Given the description of an element on the screen output the (x, y) to click on. 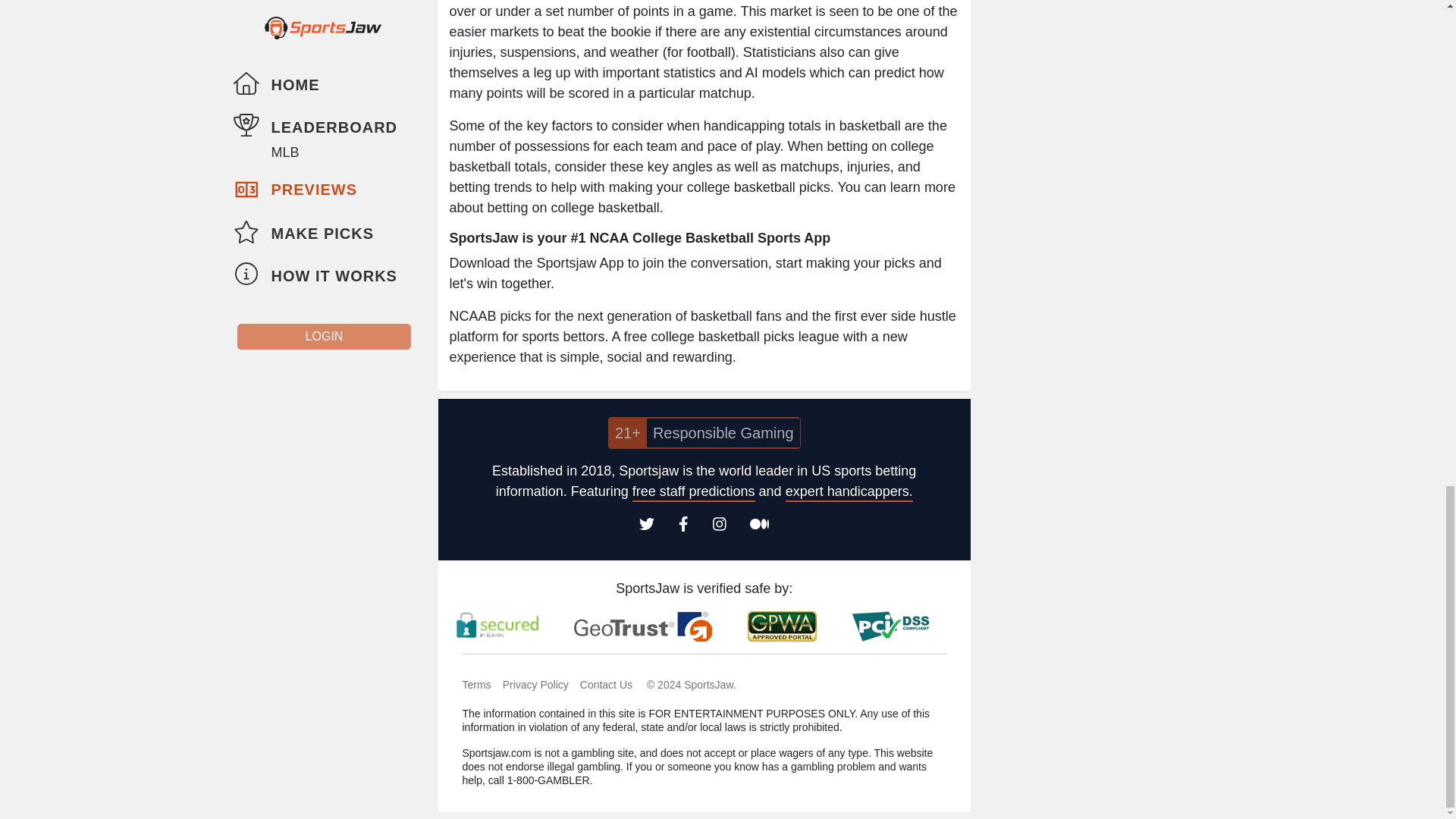
Terms (482, 684)
free staff predictions (693, 493)
Privacy Policy (540, 684)
expert handicappers. (849, 493)
